Given the description of an element on the screen output the (x, y) to click on. 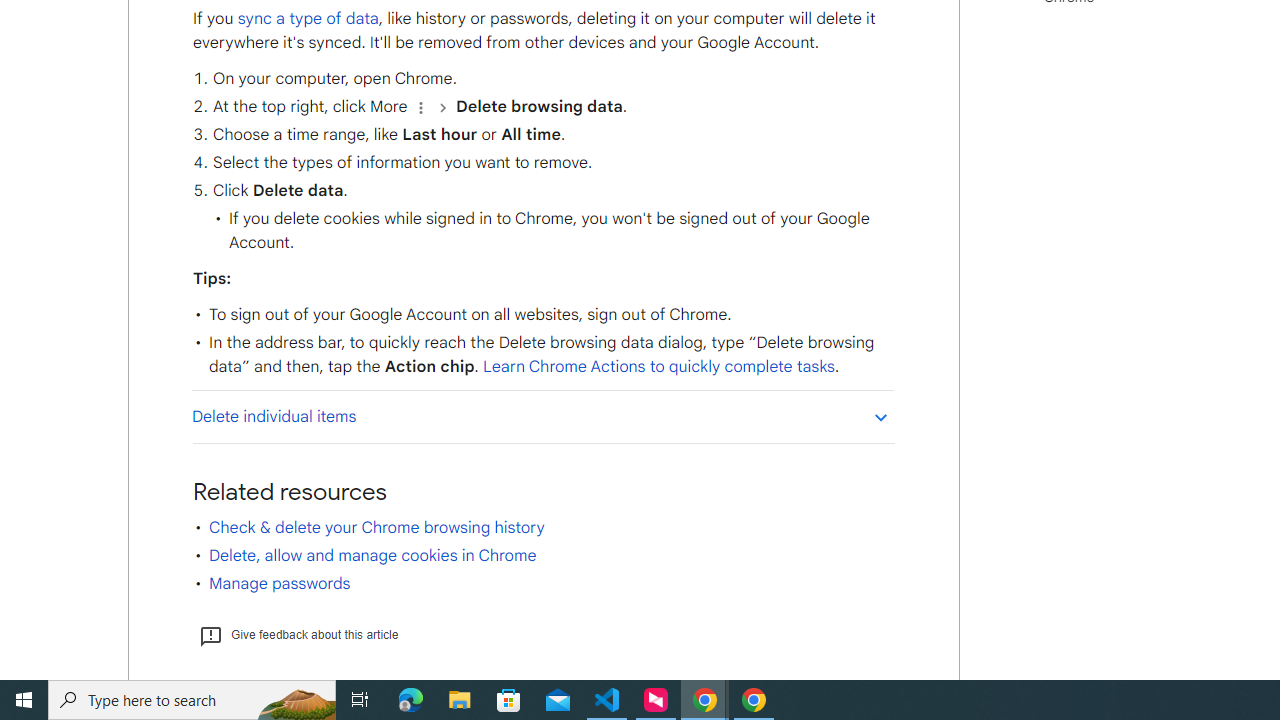
Delete individual items (542, 416)
Delete, allow and manage cookies in Chrome (372, 555)
Learn Chrome Actions to quickly complete tasks (658, 367)
Give feedback about this article (298, 634)
sync a type of data (307, 18)
Check & delete your Chrome browsing history (376, 527)
Manage passwords (279, 583)
and then (441, 106)
More (420, 106)
